Given the description of an element on the screen output the (x, y) to click on. 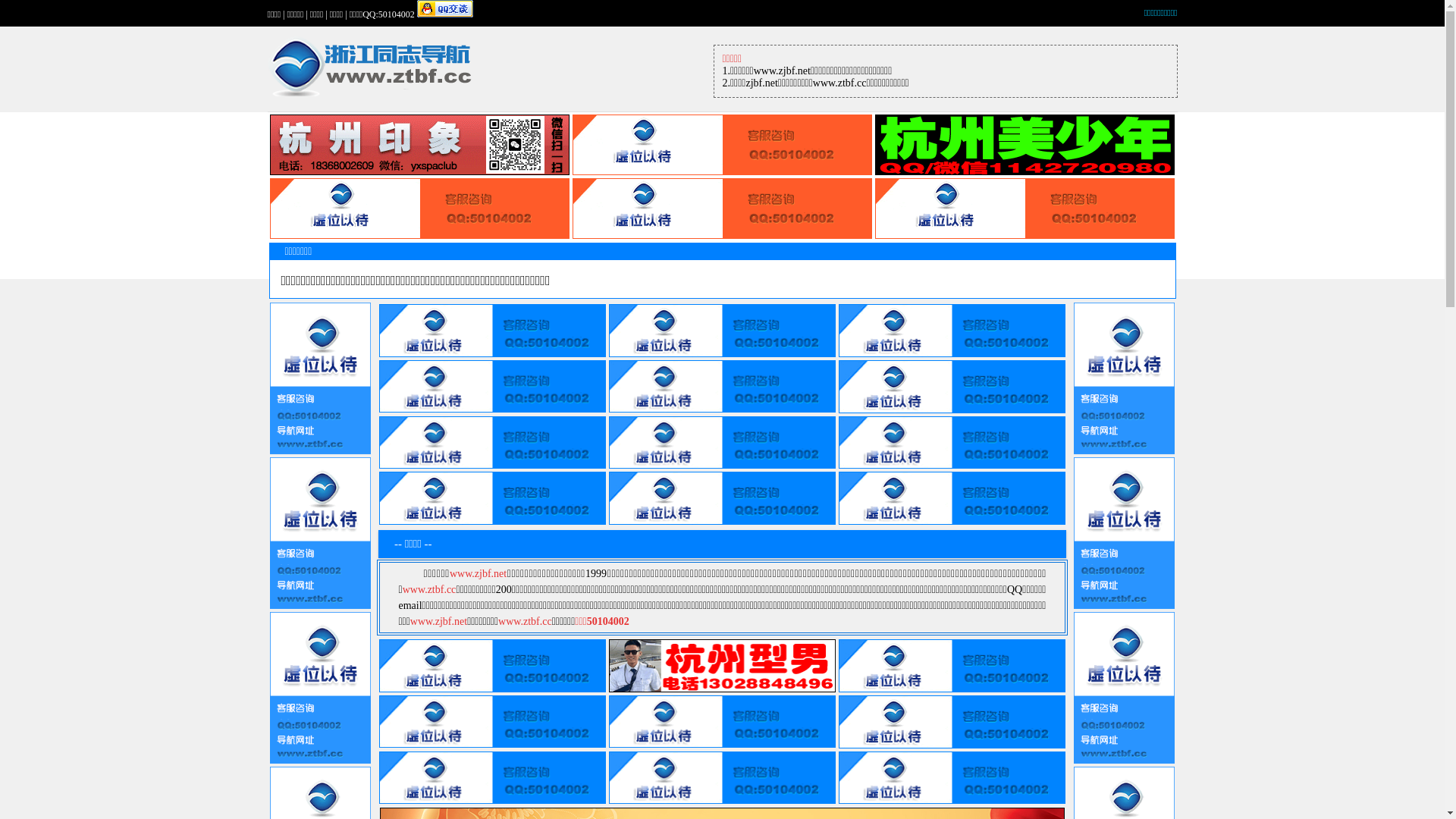
www.ztbf.cc Element type: text (525, 621)
www.ztbf.cc Element type: text (429, 589)
www.zjbf.net Element type: text (477, 573)
www.zjbf.net Element type: text (438, 621)
